Given the description of an element on the screen output the (x, y) to click on. 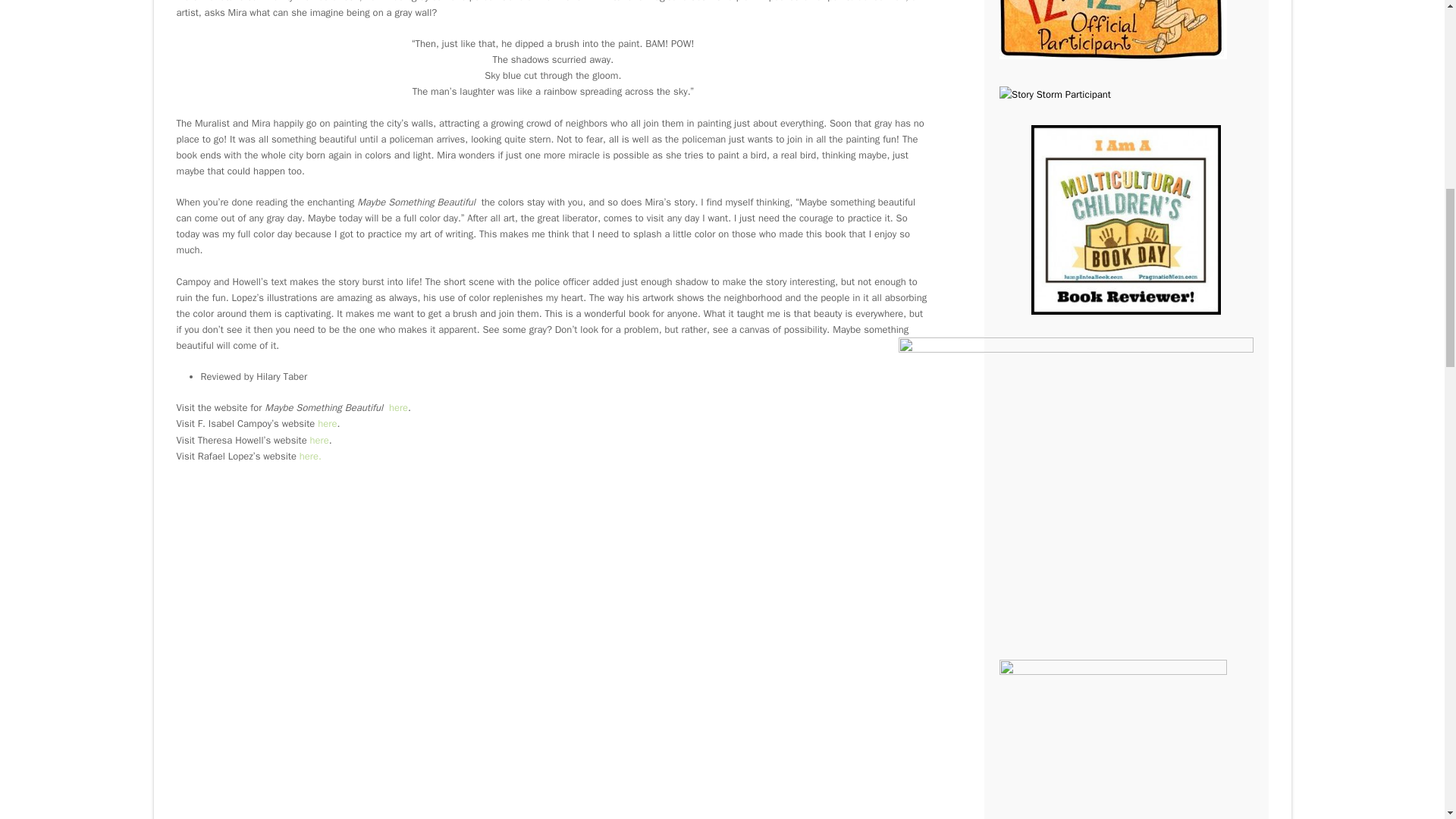
here (397, 407)
here. (310, 455)
here (326, 422)
here (319, 440)
